Given the description of an element on the screen output the (x, y) to click on. 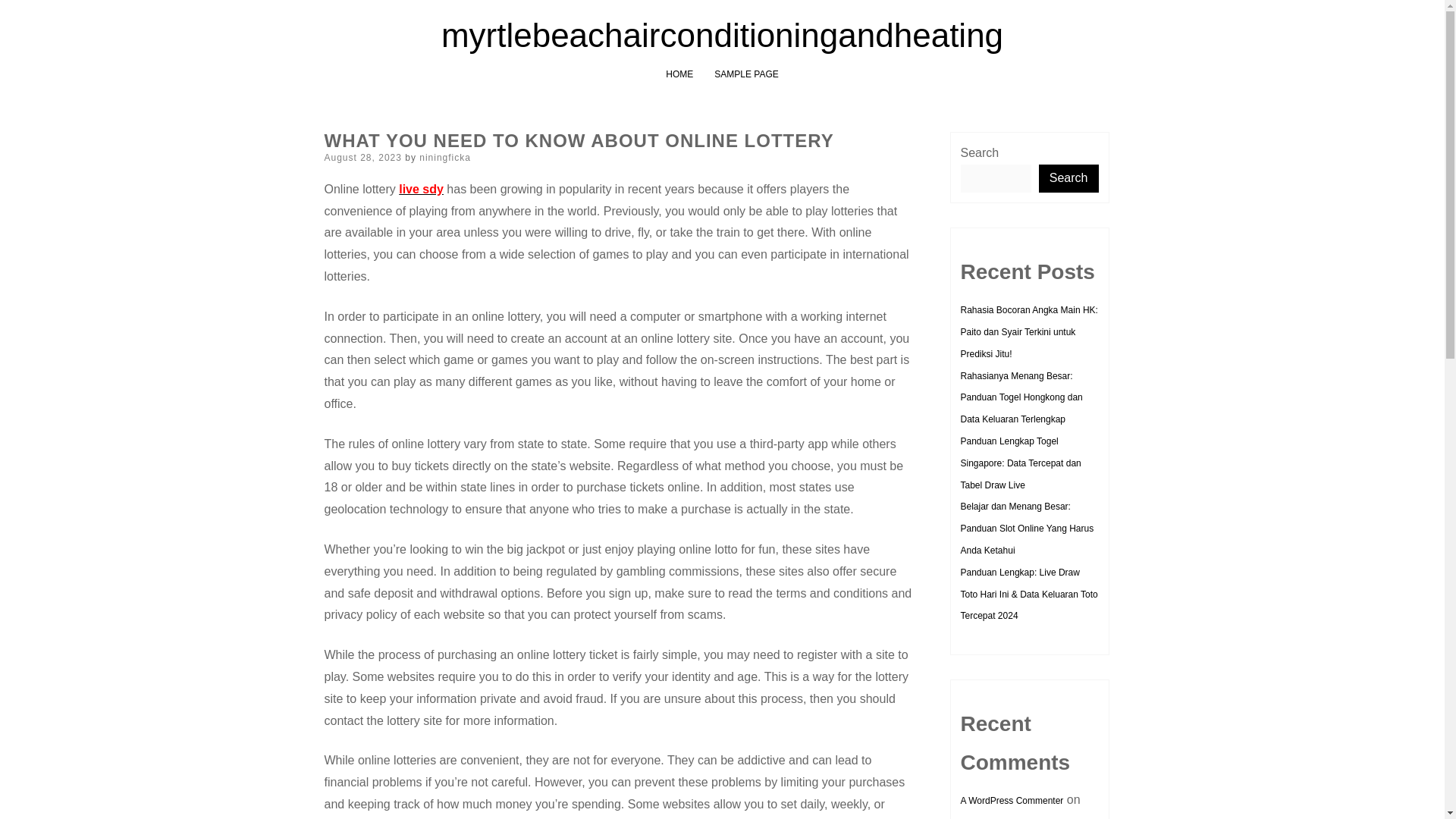
live sdy (421, 188)
niningficka (444, 157)
HOME (679, 73)
Hello world! (983, 818)
SAMPLE PAGE (745, 73)
myrtlebeachairconditioningandheating (722, 35)
Search (1069, 178)
August 28, 2023 (362, 157)
A WordPress Commenter (1010, 800)
